Given the description of an element on the screen output the (x, y) to click on. 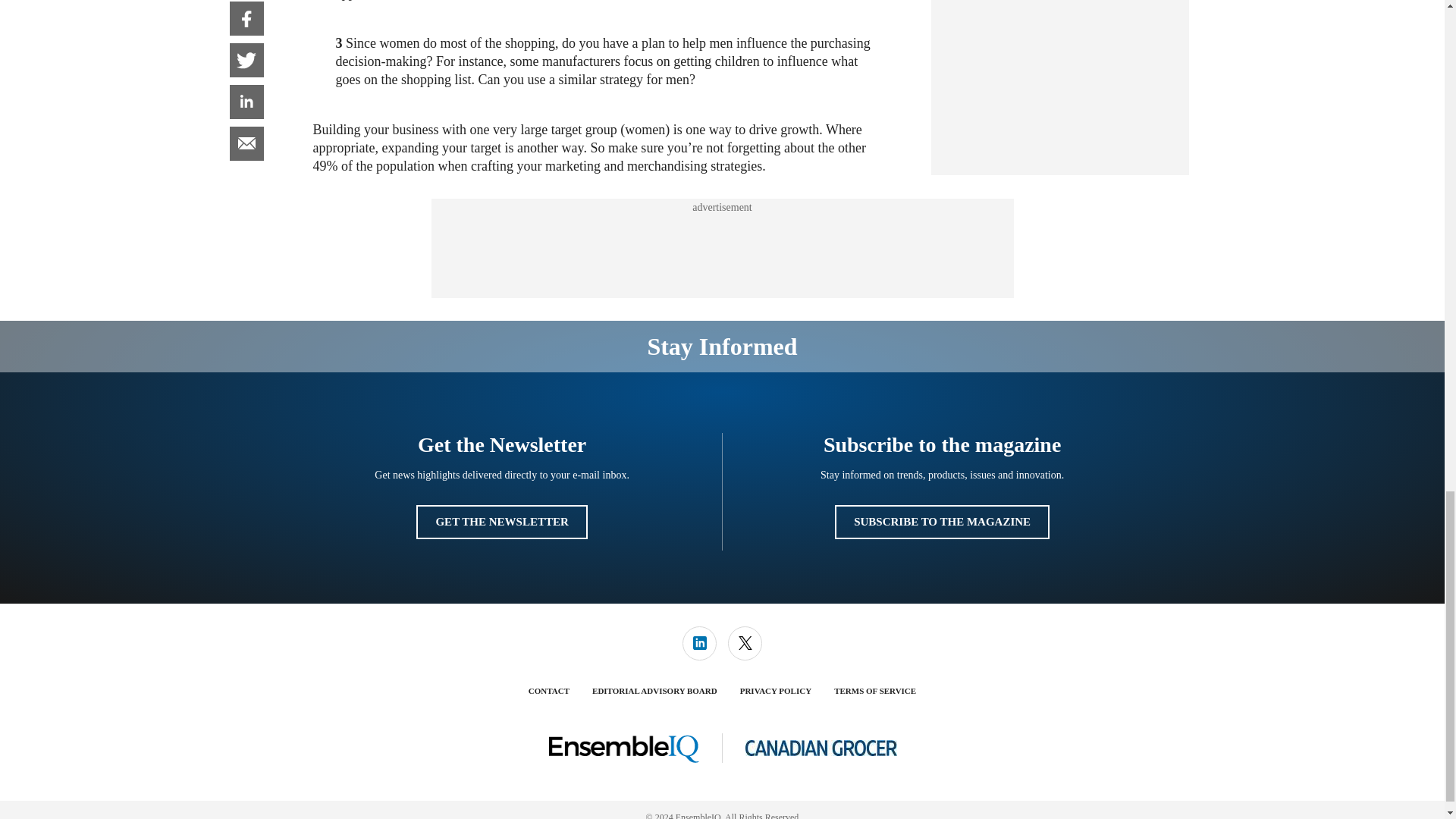
3rd party ad content (721, 248)
